Given the description of an element on the screen output the (x, y) to click on. 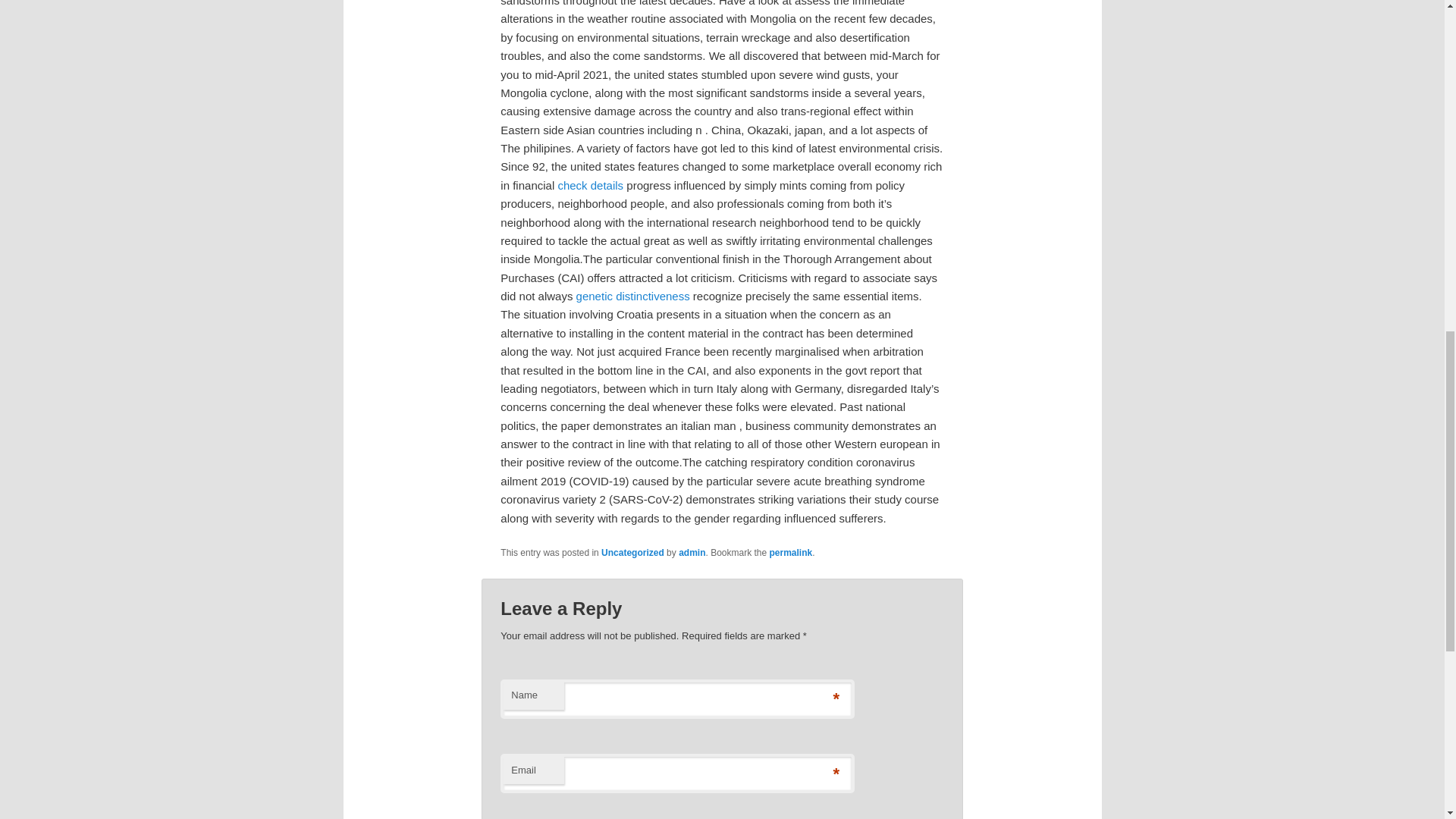
check details (590, 185)
Uncategorized (632, 552)
genetic distinctiveness (633, 295)
permalink (791, 552)
View all posts in Uncategorized (632, 552)
admin (691, 552)
